Given the description of an element on the screen output the (x, y) to click on. 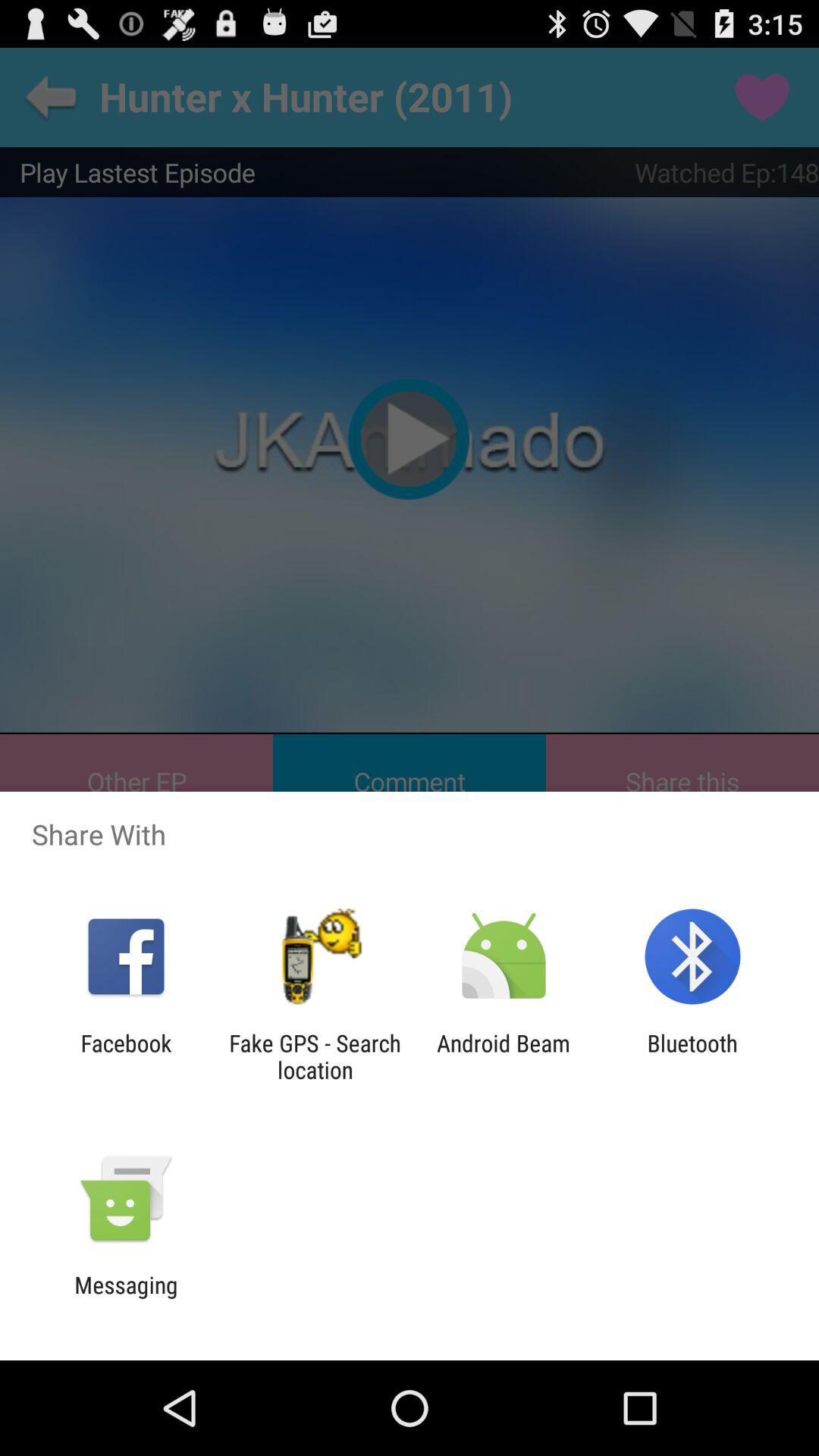
scroll until bluetooth app (692, 1056)
